Given the description of an element on the screen output the (x, y) to click on. 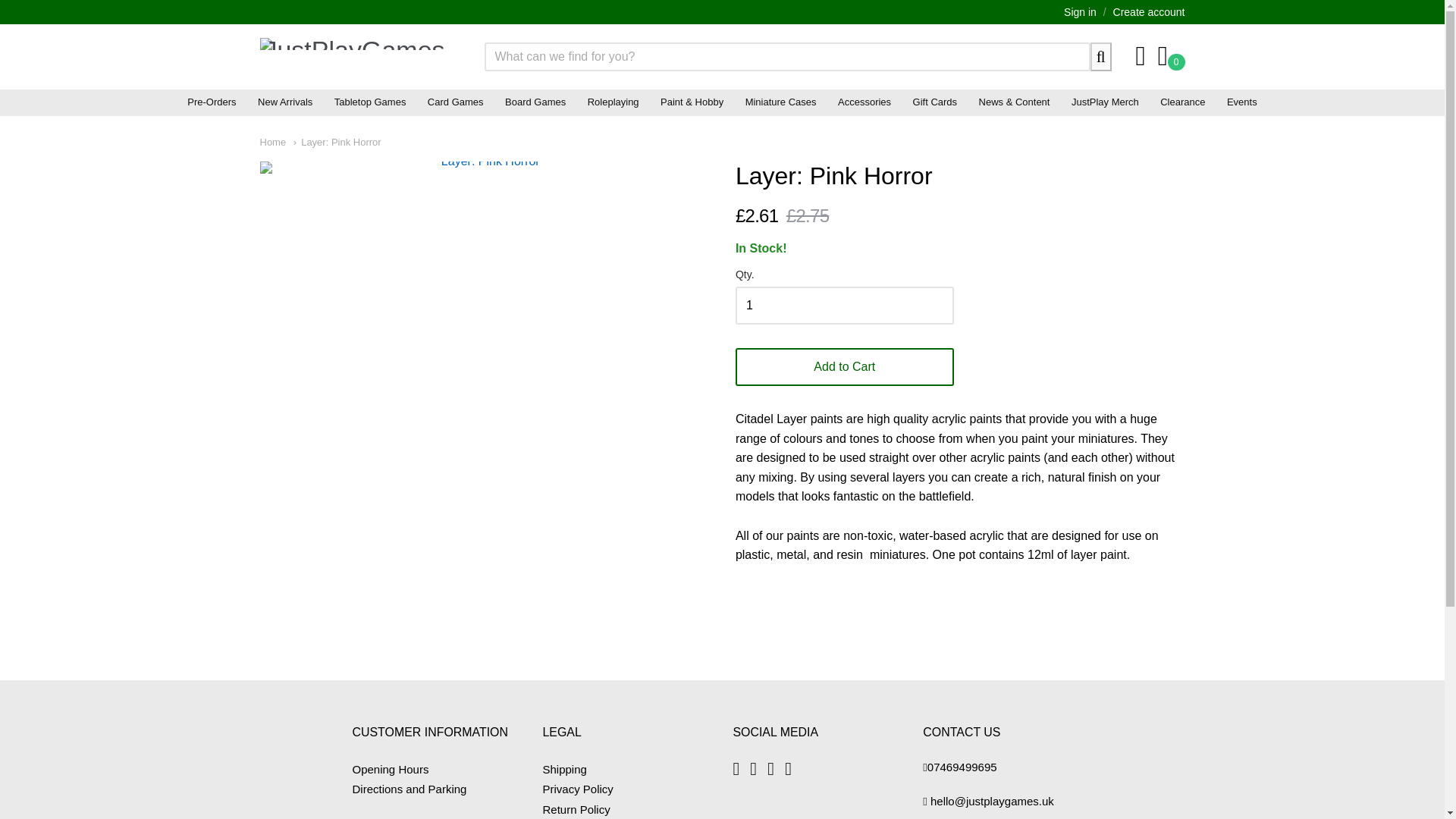
Home (272, 142)
1 (844, 305)
New Arrivals (284, 101)
Create account (1149, 11)
Tabletop Games (369, 101)
JustPlayGames (353, 56)
Pre-Orders (210, 101)
Sign in (1080, 11)
Card Games (456, 101)
Layer: Pink Horror (337, 142)
